Given the description of an element on the screen output the (x, y) to click on. 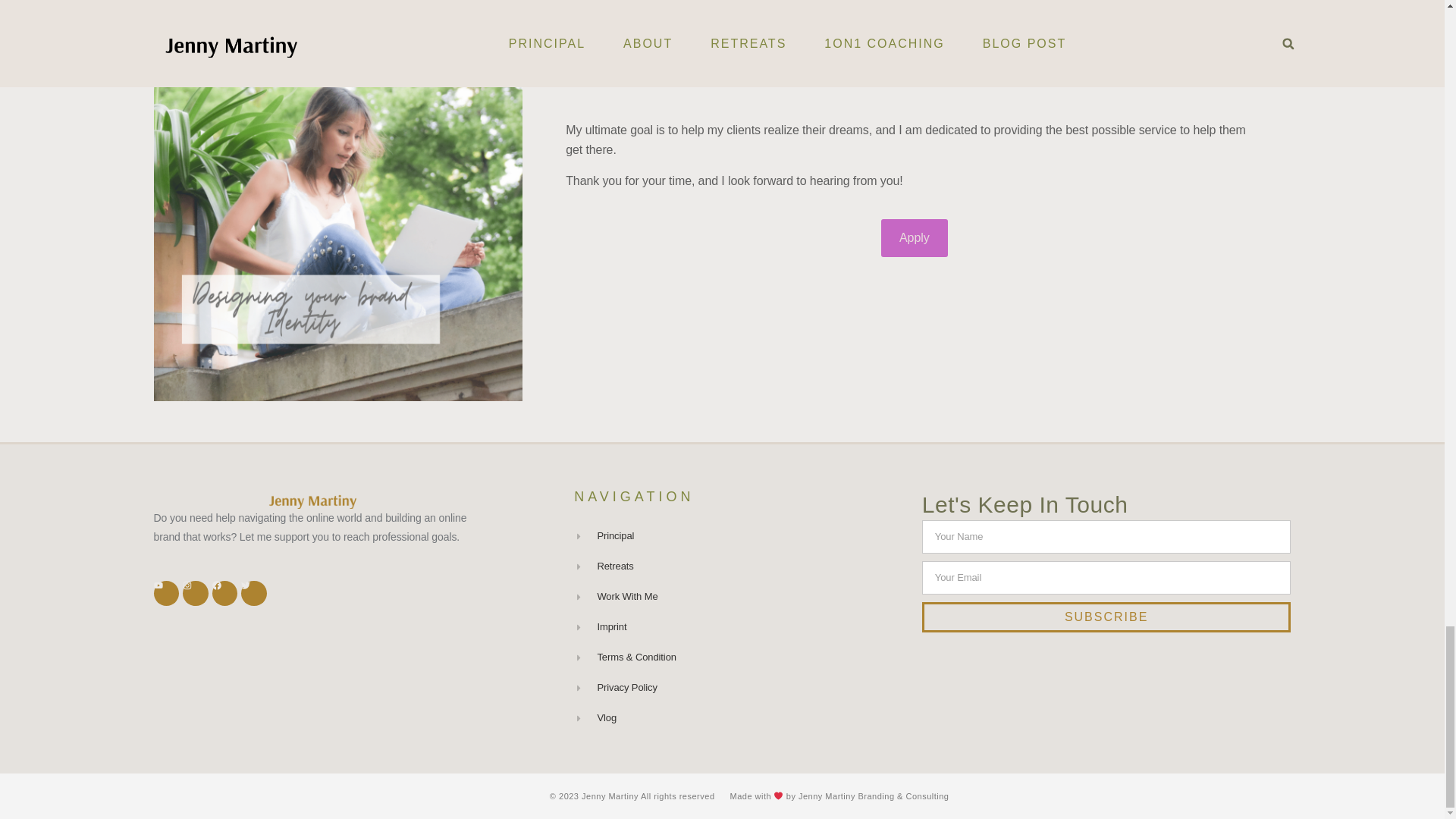
SUBSCRIBE (1106, 616)
Imprint (740, 627)
Privacy Policy (740, 687)
Work With Me (740, 596)
Apply (913, 238)
Principal (740, 536)
Vlog (740, 718)
Retreats (740, 566)
